Given the description of an element on the screen output the (x, y) to click on. 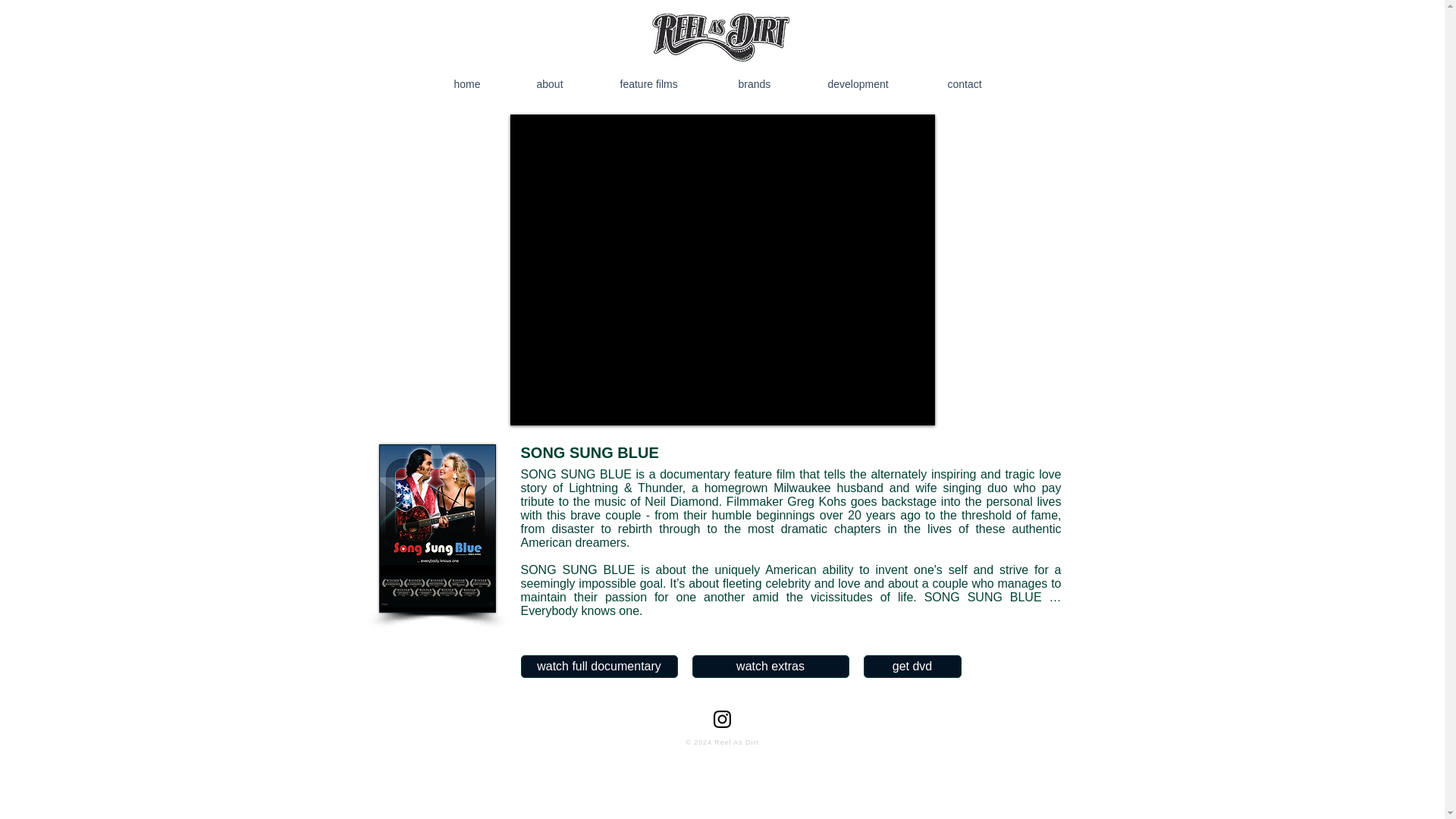
brands (772, 83)
about (567, 83)
home (485, 83)
watch extras (769, 666)
development (876, 83)
feature films (669, 83)
watch full documentary (598, 666)
Reel As Dirt logo (719, 37)
contact (982, 83)
get dvd (911, 666)
